Given the description of an element on the screen output the (x, y) to click on. 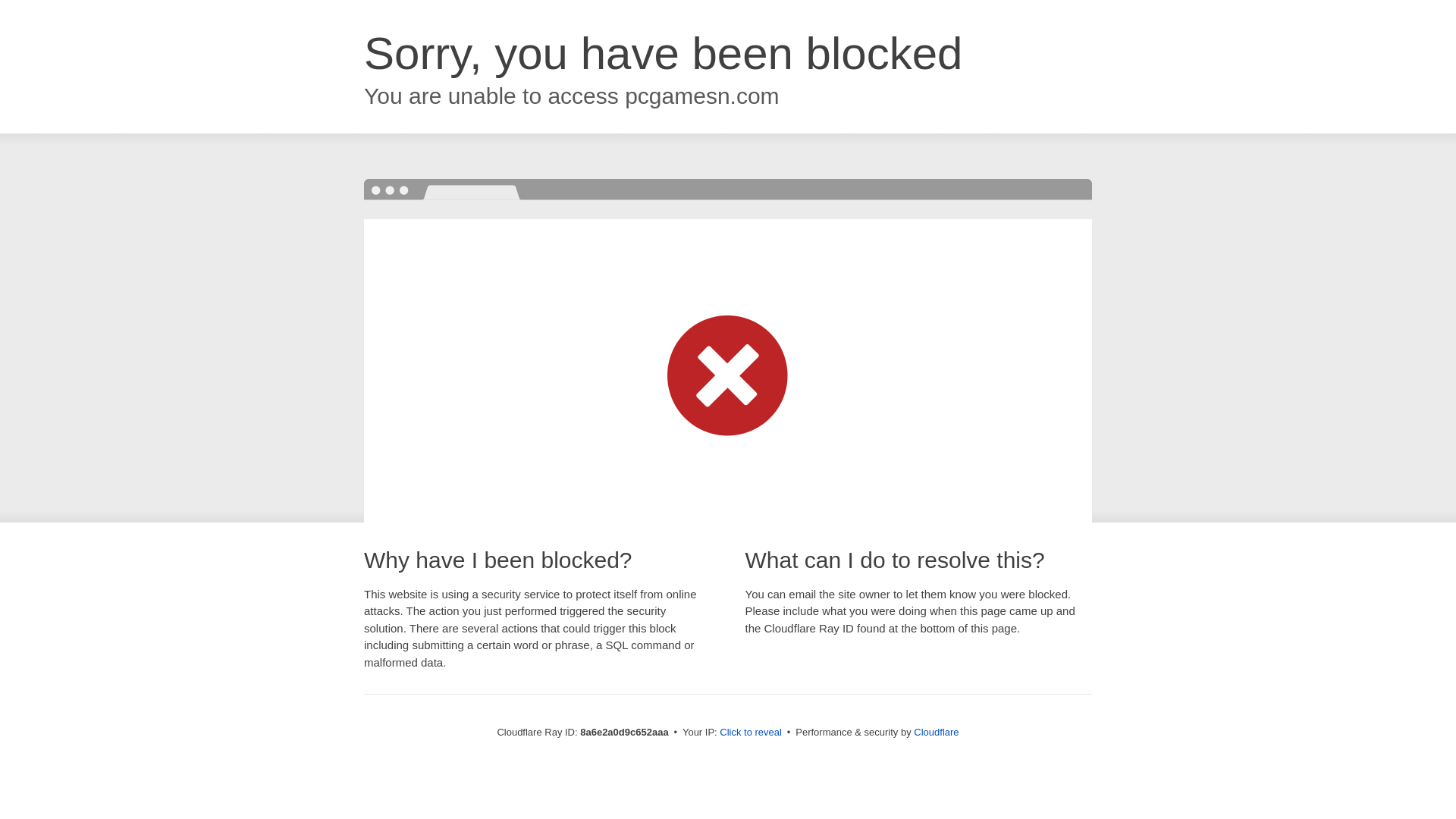
Click to reveal (750, 732)
Cloudflare (936, 731)
